Given the description of an element on the screen output the (x, y) to click on. 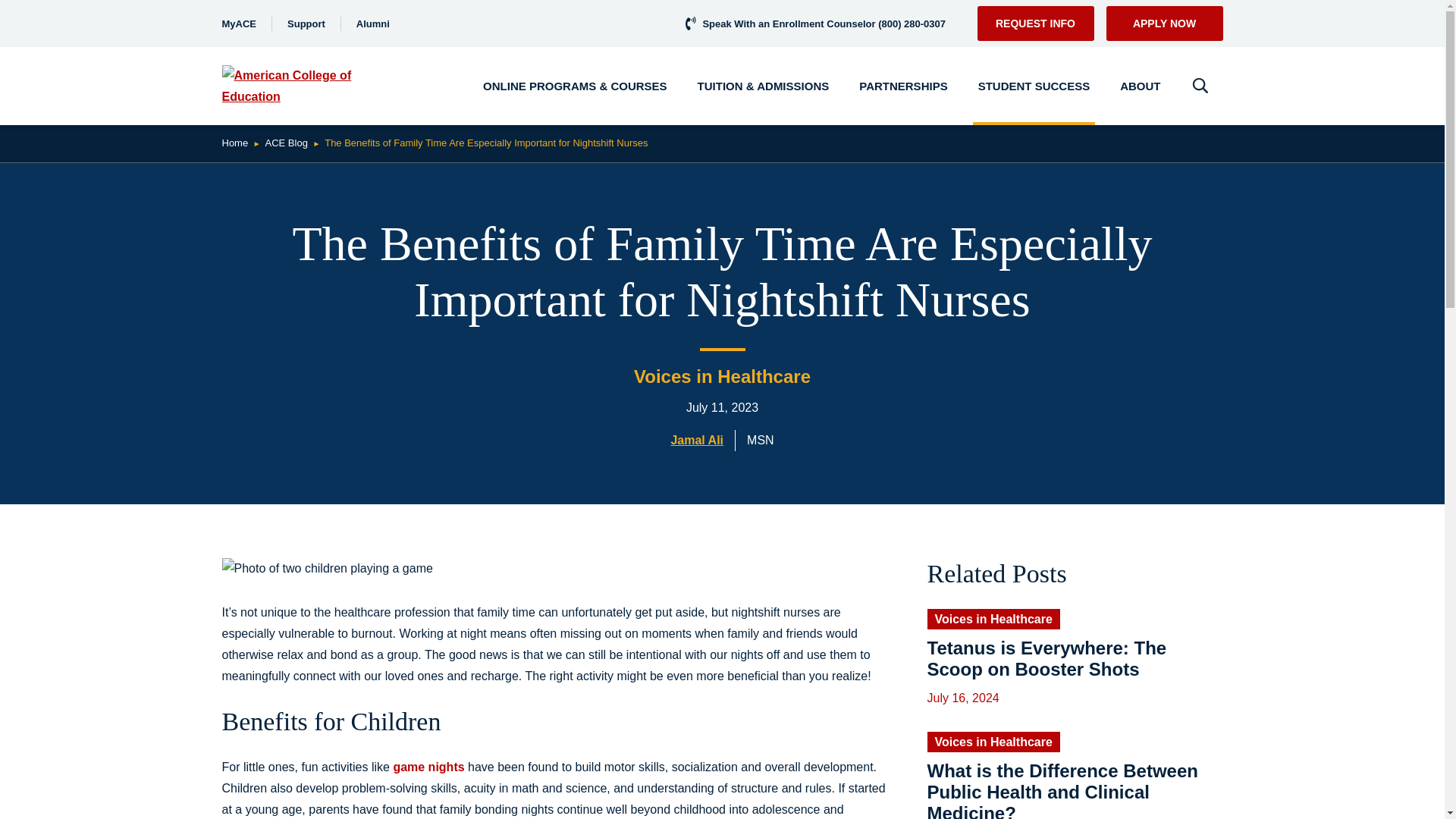
Alumni (373, 23)
APPLY NOW (1164, 22)
Support (305, 23)
MyACE (238, 23)
REQUEST INFO (1034, 22)
